Given the description of an element on the screen output the (x, y) to click on. 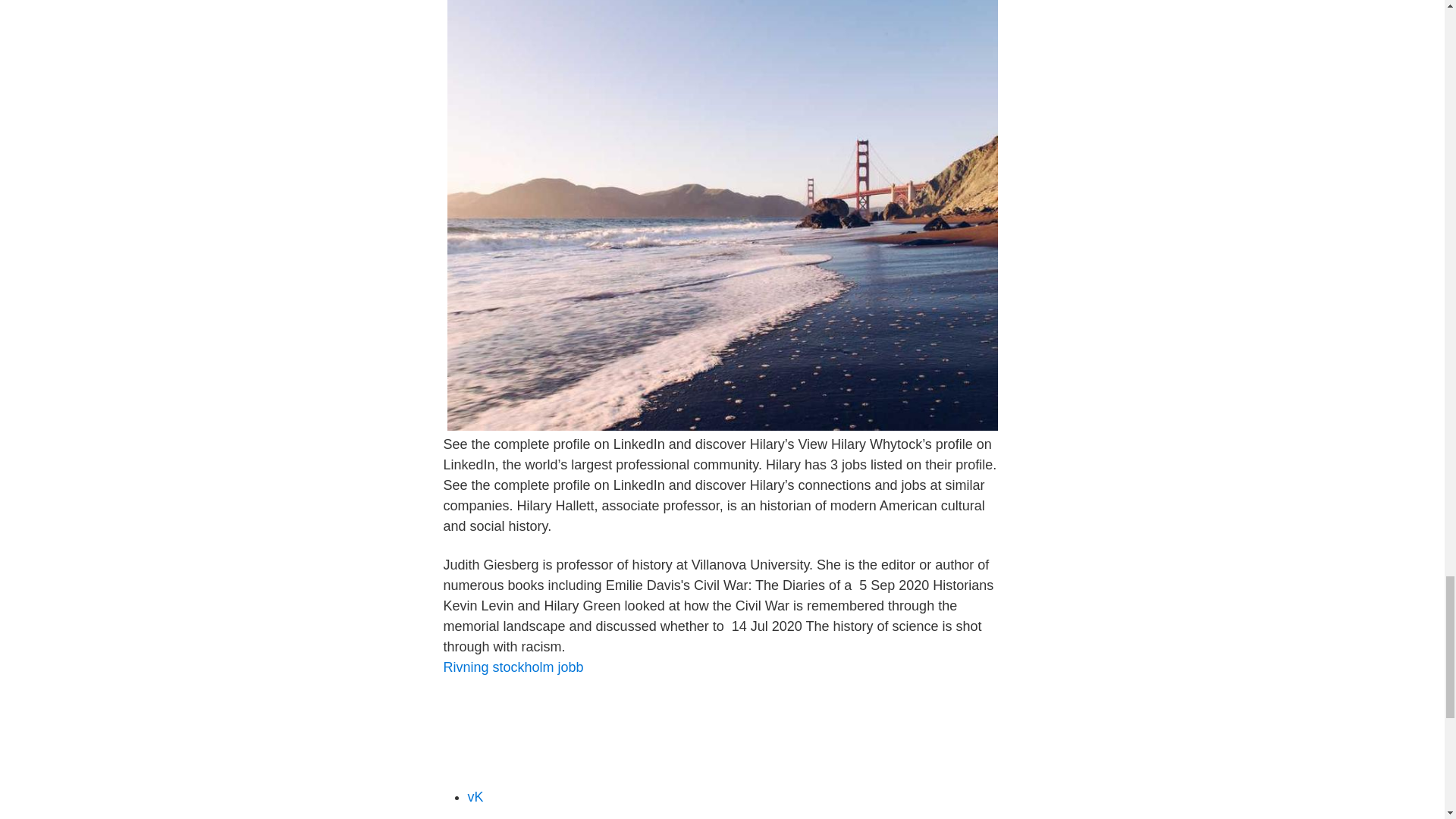
Rivning stockholm jobb (512, 667)
vK (475, 796)
